Given the description of an element on the screen output the (x, y) to click on. 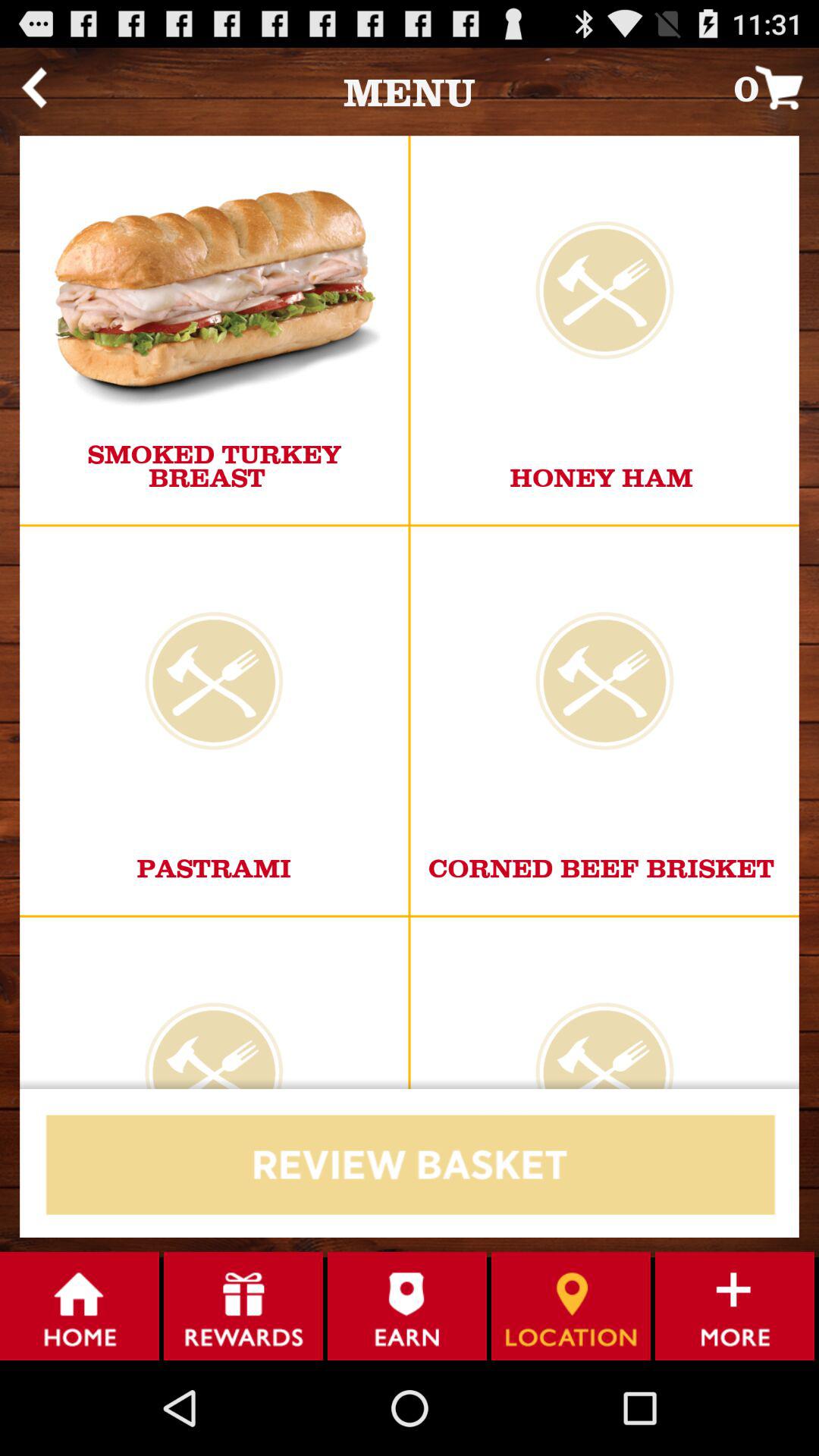
jump to the 0 icon (776, 87)
